Given the description of an element on the screen output the (x, y) to click on. 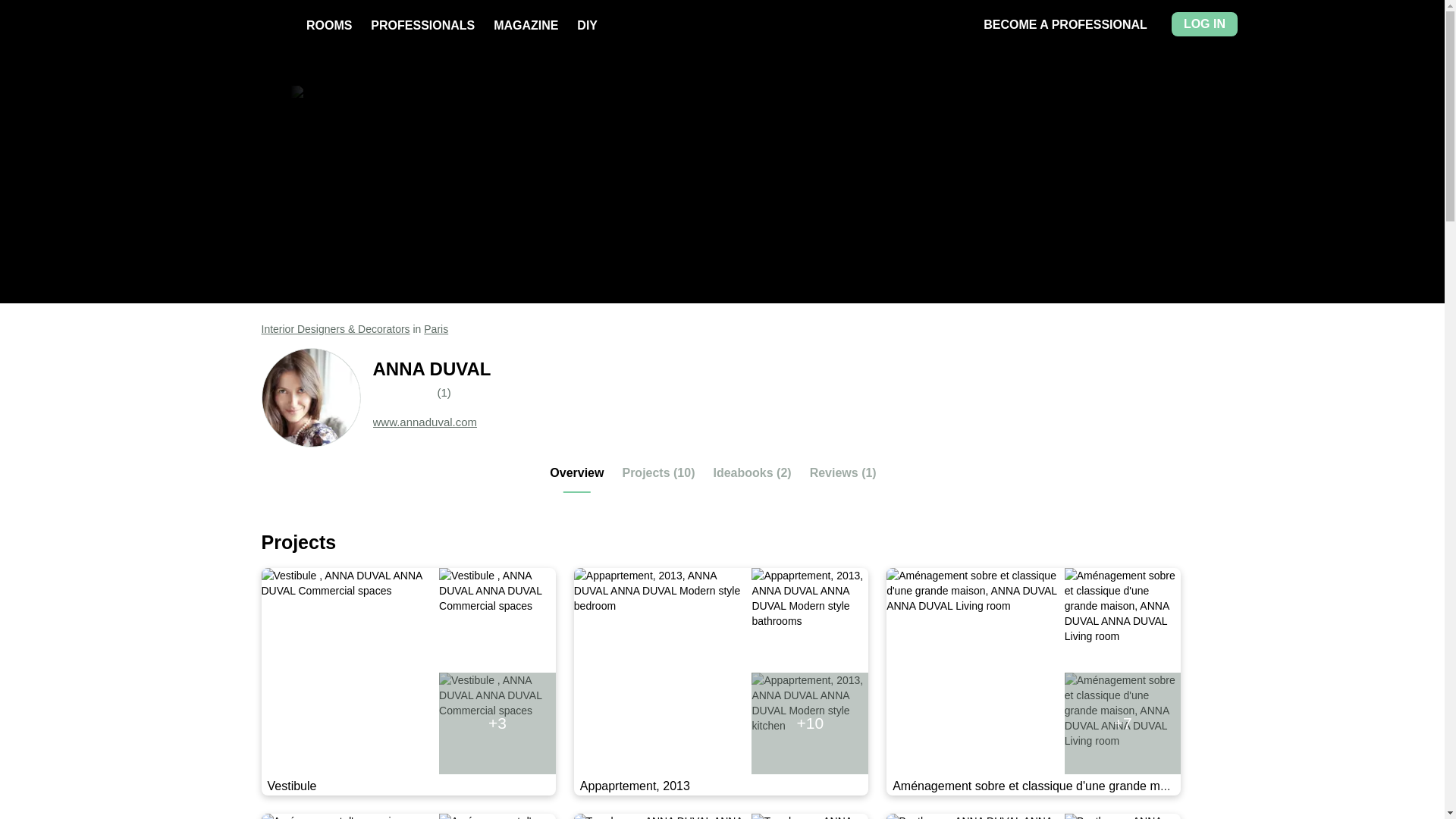
Overview (577, 478)
PROFESSIONALS (422, 25)
www.annaduval.com (424, 421)
LOG IN (1204, 24)
BECOME A PROFESSIONAL (1064, 23)
MAGAZINE (525, 25)
DIY (586, 25)
Paris (435, 328)
ROOMS (328, 25)
ANNA DUVAL (777, 368)
